Given the description of an element on the screen output the (x, y) to click on. 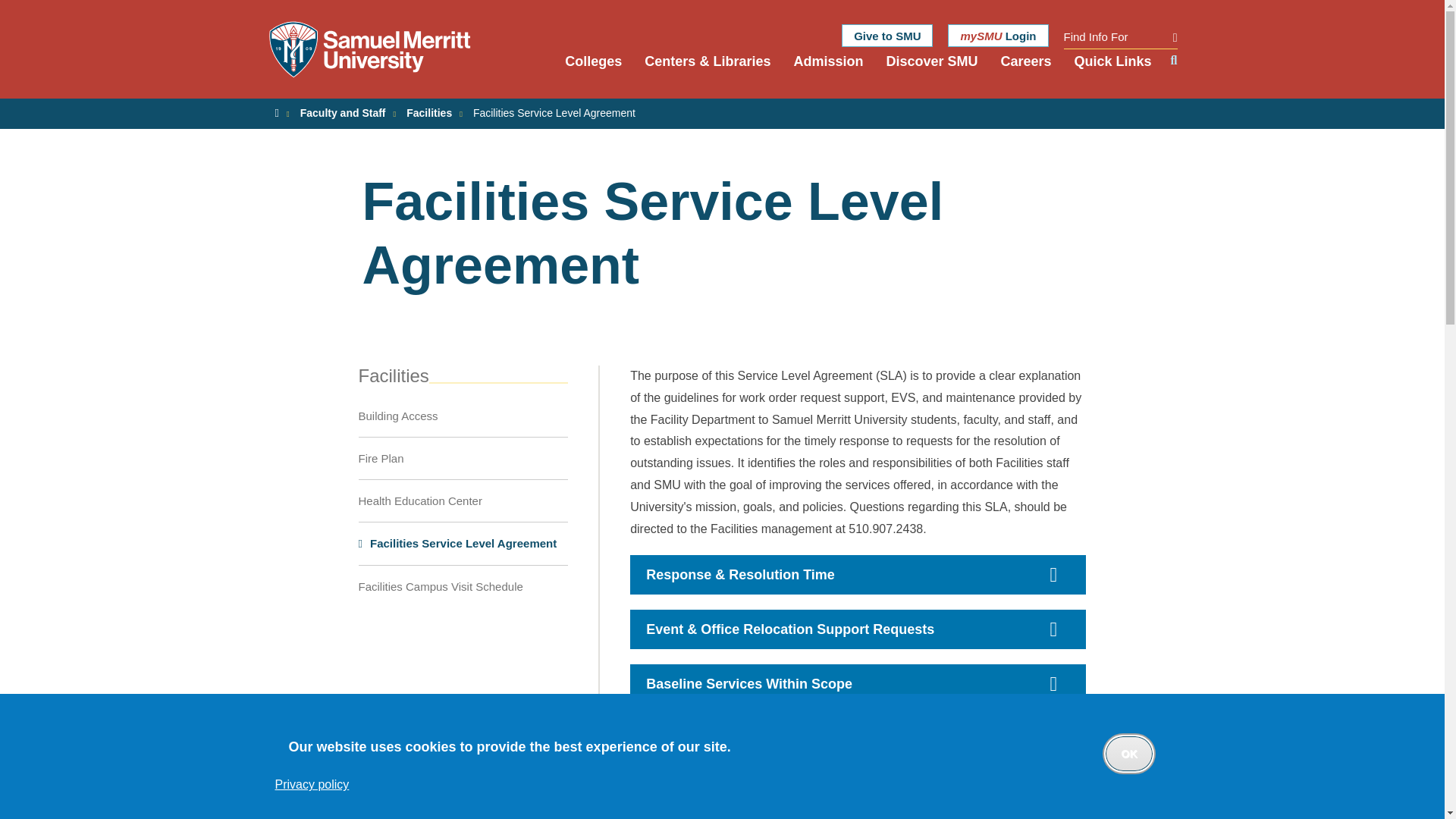
Centers and Libraries (707, 72)
Discover SMU (931, 72)
mySMU Login (997, 35)
Colleges (593, 72)
Give to SMU (887, 35)
Admission (1119, 37)
